Given the description of an element on the screen output the (x, y) to click on. 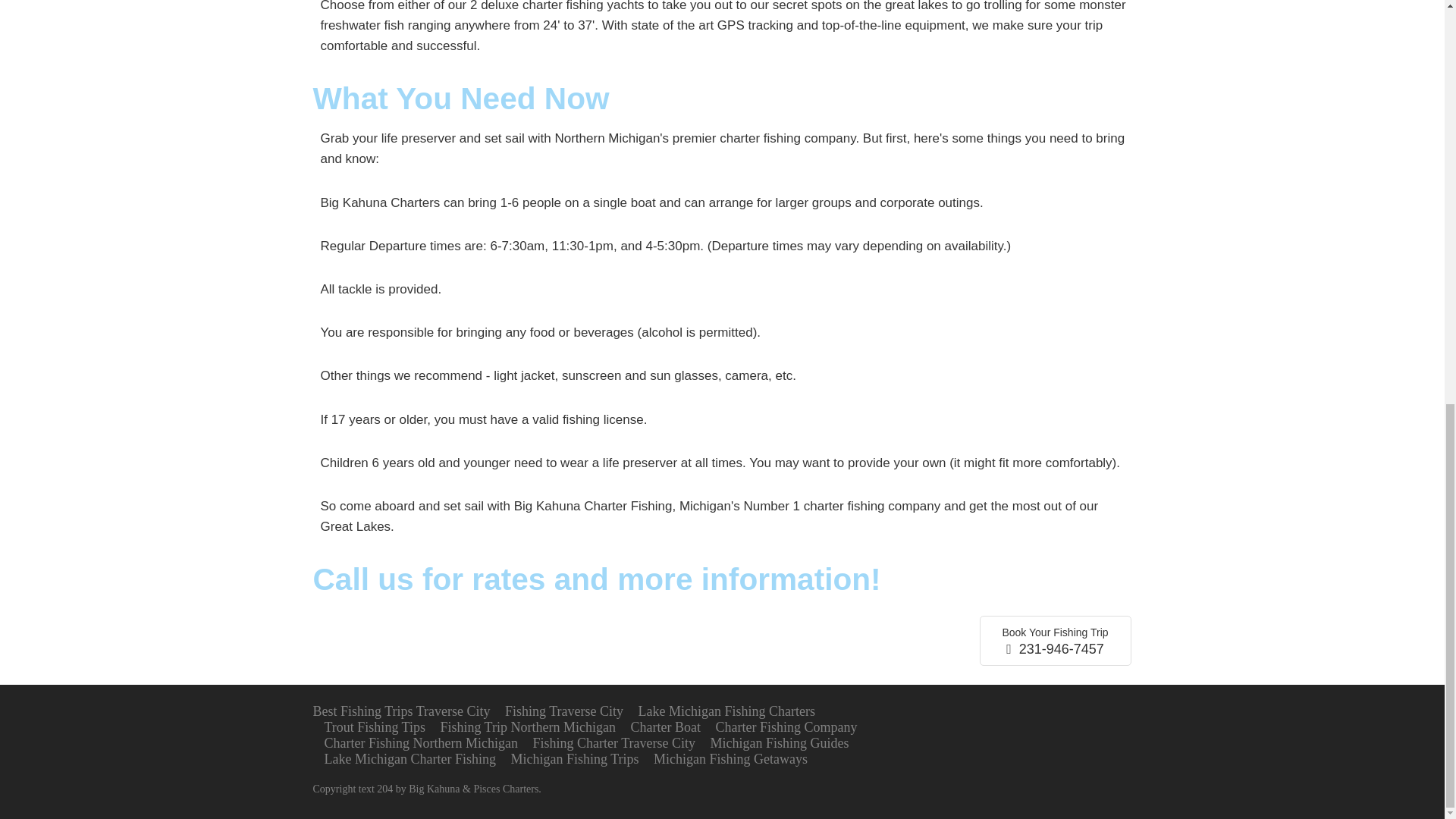
Fishing Traverse City (564, 711)
Best Fishing Trips Traverse City (401, 711)
Lake Michigan Charter Fishing (410, 758)
Michigan Fishing Trips (575, 758)
Trout Fishing Tips (374, 726)
Michigan Fishing Getaways (730, 758)
Charter Fishing Company (785, 726)
Lake Michigan Fishing Charters (727, 711)
Charter Boat (665, 726)
Charter Fishing Northern Michigan (421, 743)
